Given the description of an element on the screen output the (x, y) to click on. 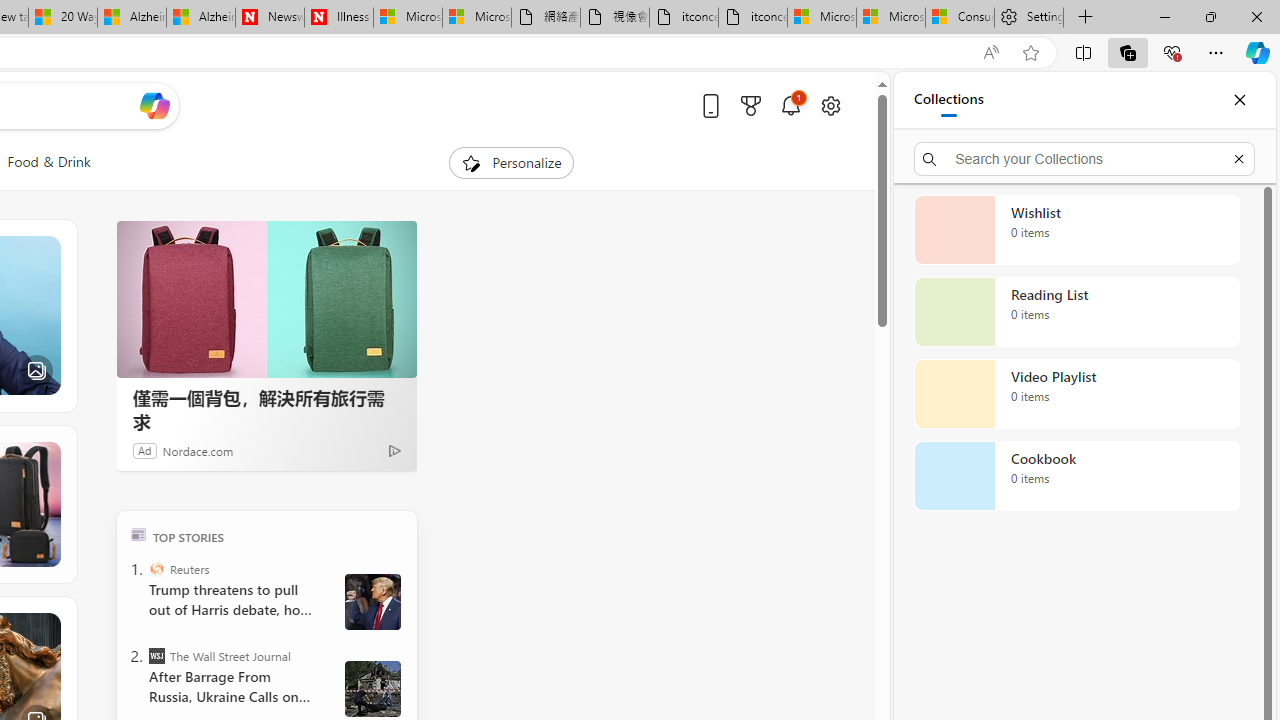
Minimize (1164, 16)
Ad Choice (394, 449)
Search your Collections (1084, 158)
Read aloud this page (Ctrl+Shift+U) (991, 53)
